Given the description of an element on the screen output the (x, y) to click on. 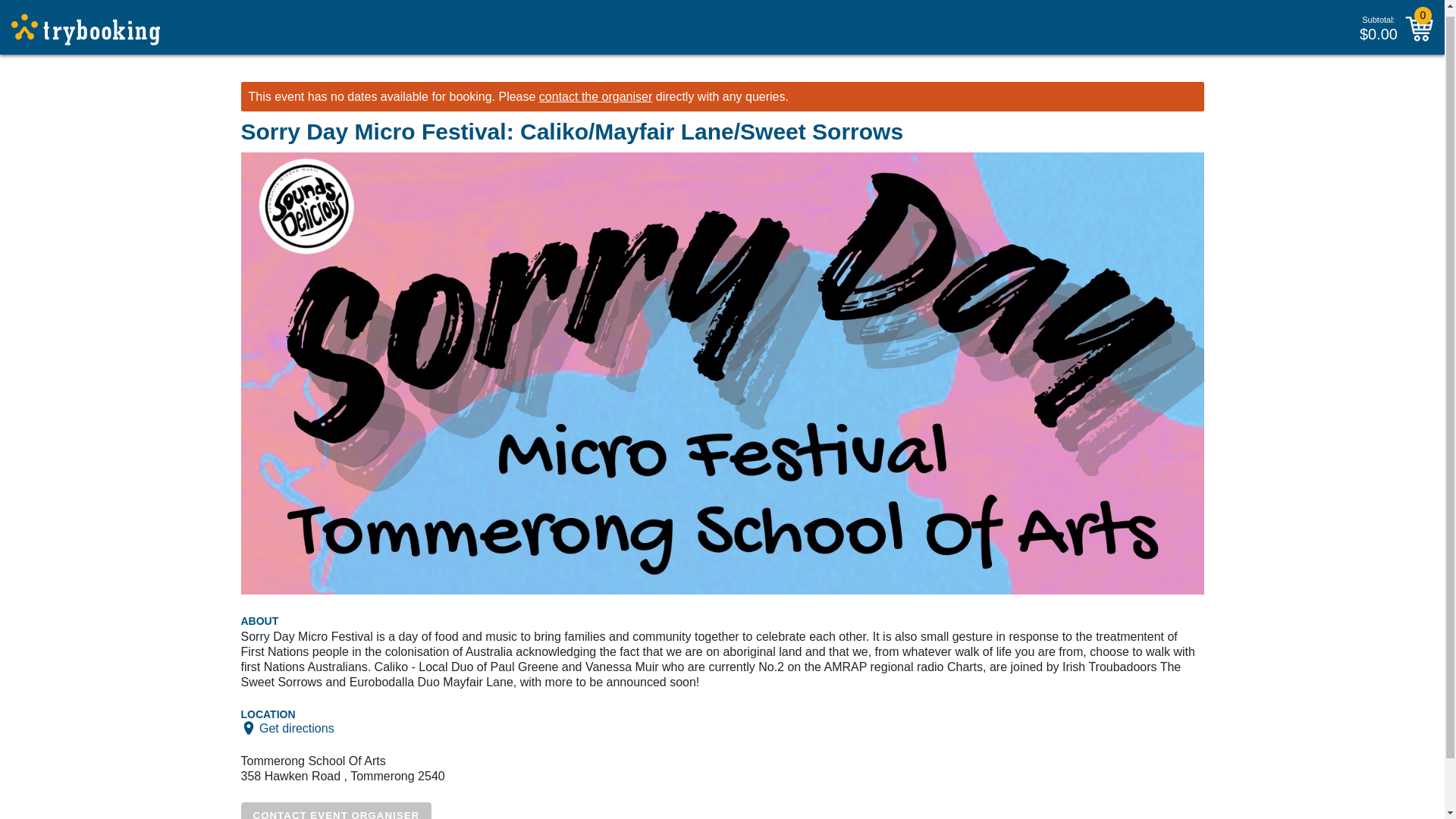
TryBooking (85, 23)
contact the organiser (595, 96)
Get directions (296, 727)
